Given the description of an element on the screen output the (x, y) to click on. 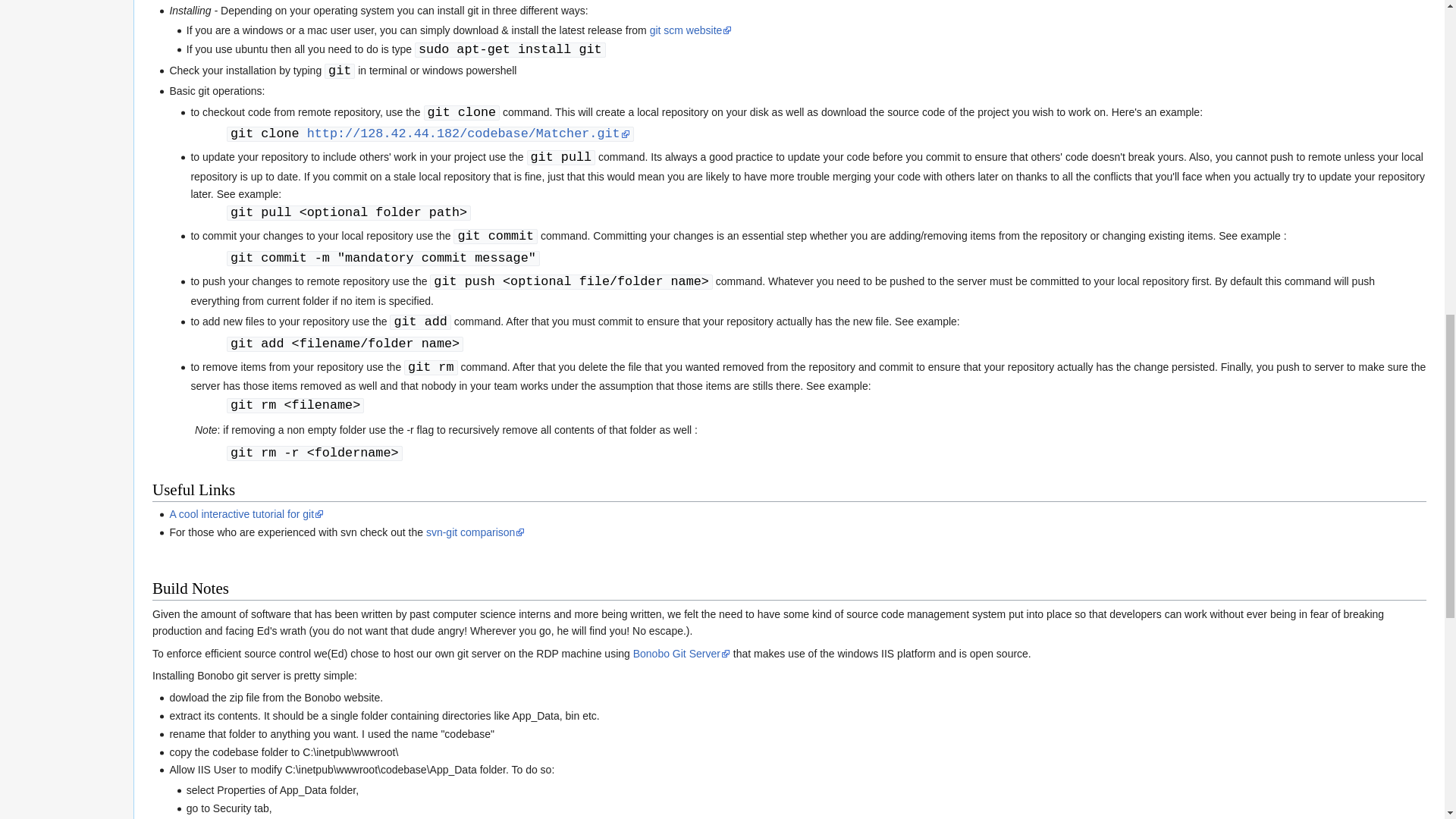
Bonobo Git Server (681, 653)
A cool interactive tutorial for git (245, 513)
git scm website (690, 30)
svn-git comparison (475, 532)
